Given the description of an element on the screen output the (x, y) to click on. 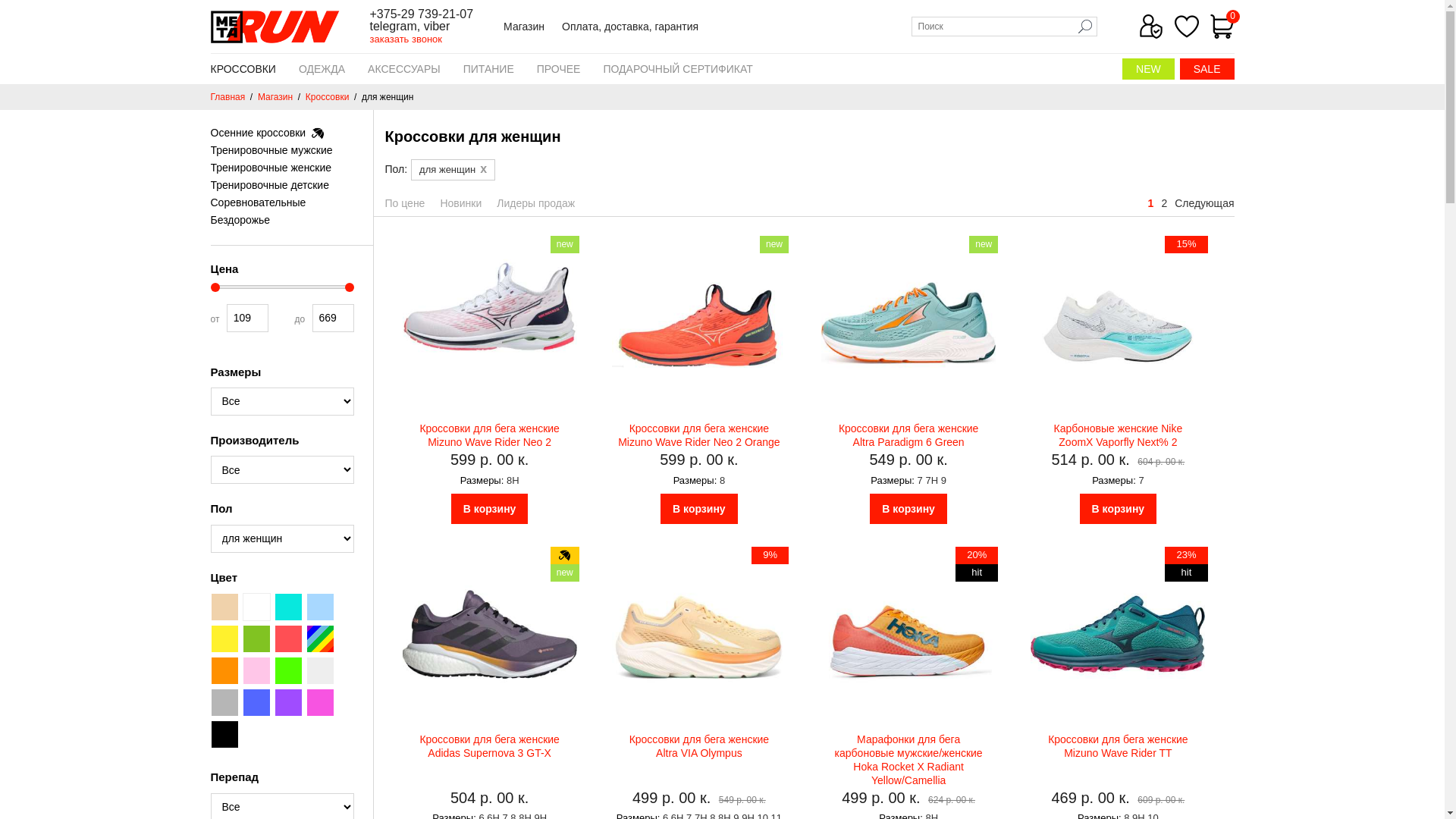
9% Element type: text (698, 633)
20%
hit Element type: text (908, 633)
7 Element type: text (919, 480)
9 Element type: text (943, 480)
SALE Element type: text (1206, 67)
new Element type: text (489, 633)
7 Element type: text (1140, 480)
7H Element type: text (931, 480)
new Element type: text (489, 322)
8 Element type: text (721, 480)
1 Element type: text (1151, 203)
23%
hit Element type: text (1117, 633)
NEW Element type: text (1148, 67)
+375-29 739-21-07 Element type: text (421, 13)
new Element type: text (908, 322)
15% Element type: text (1117, 322)
8H Element type: text (512, 480)
2 Element type: text (1164, 203)
new Element type: text (698, 322)
